Given the description of an element on the screen output the (x, y) to click on. 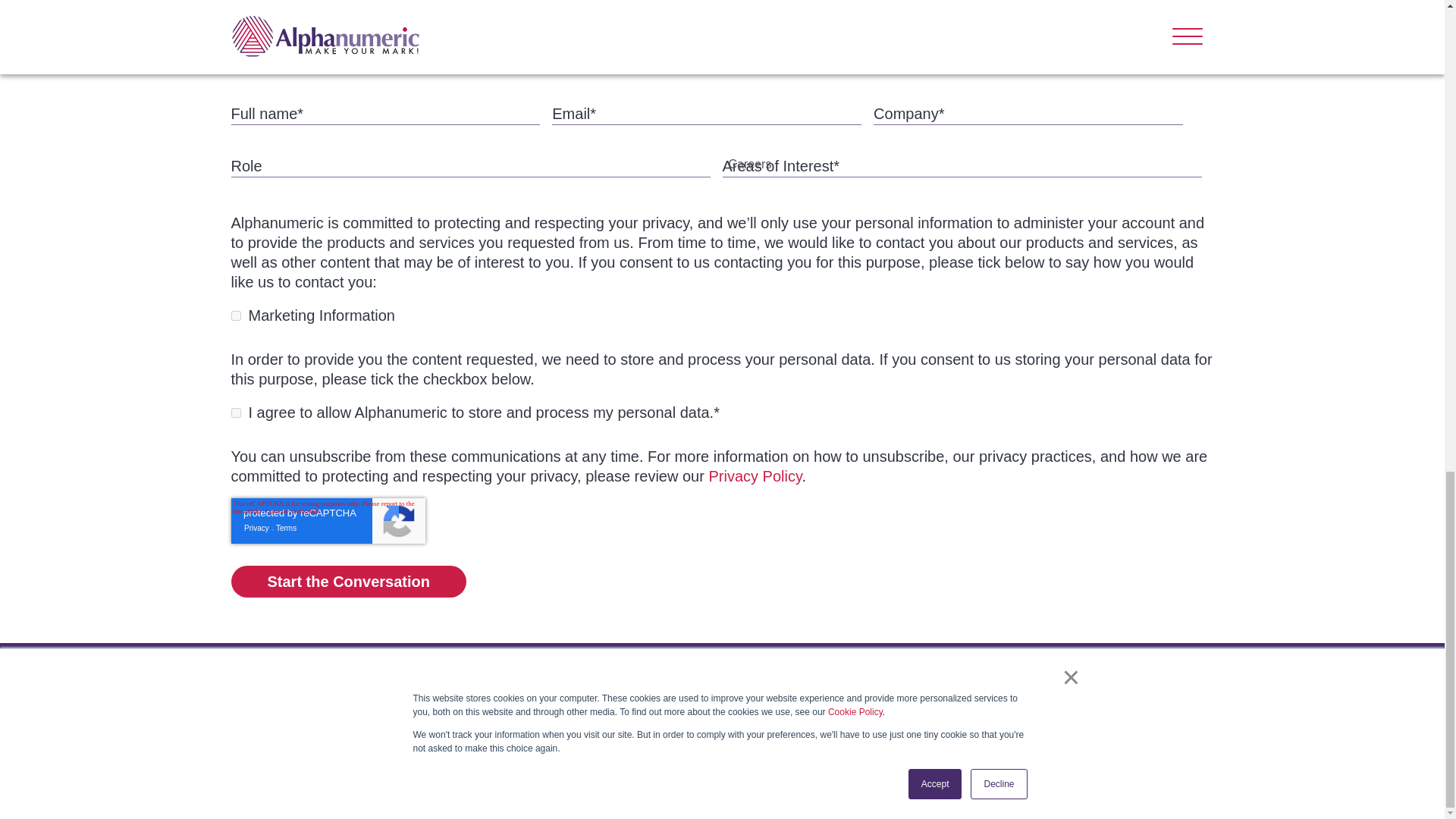
true (235, 412)
Visit Alphanumeric.com (325, 686)
reCAPTCHA (327, 520)
true (235, 316)
Start the Conversation (347, 581)
Privacy Policy (754, 475)
Start the Conversation (347, 581)
